Given the description of an element on the screen output the (x, y) to click on. 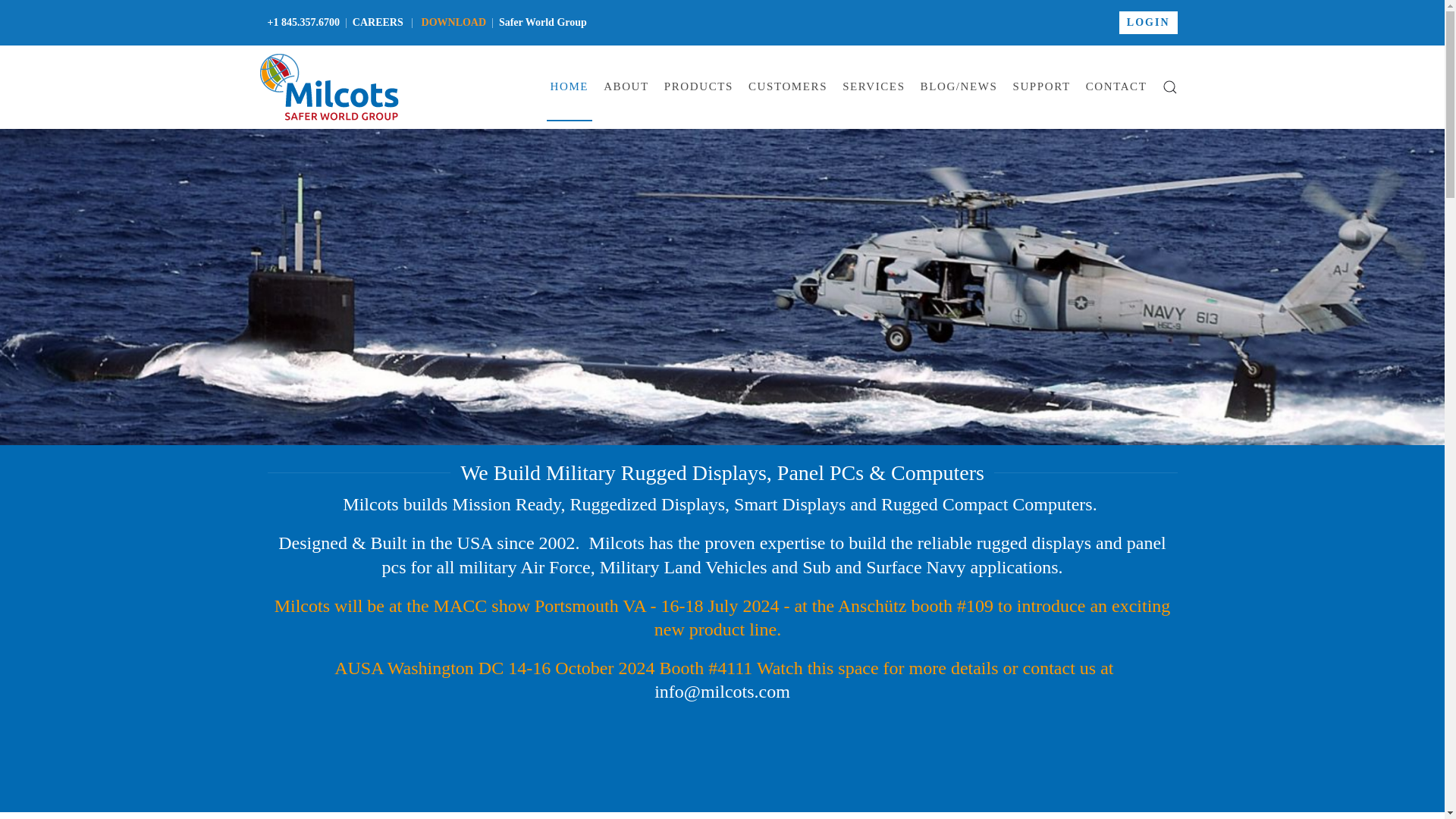
PRODUCTS (698, 87)
LOGIN (1148, 22)
CAREERS (377, 21)
CUSTOMERS (787, 87)
DOWNLOAD (454, 21)
Safer World Group (542, 21)
